Given the description of an element on the screen output the (x, y) to click on. 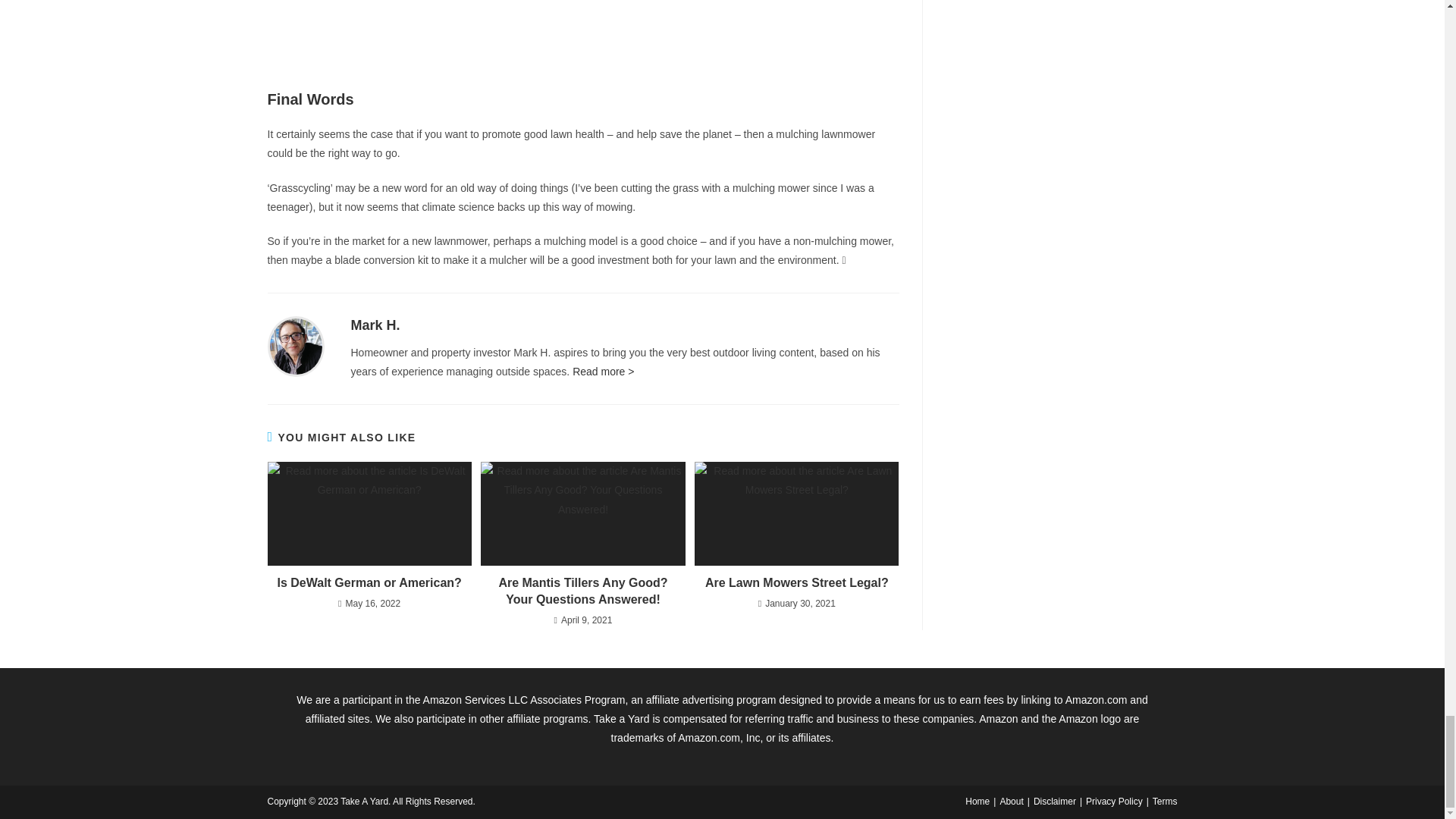
Mark H. (374, 324)
Is DeWalt German or American? (368, 582)
Visit author page (294, 345)
Visit author page (374, 324)
